Given the description of an element on the screen output the (x, y) to click on. 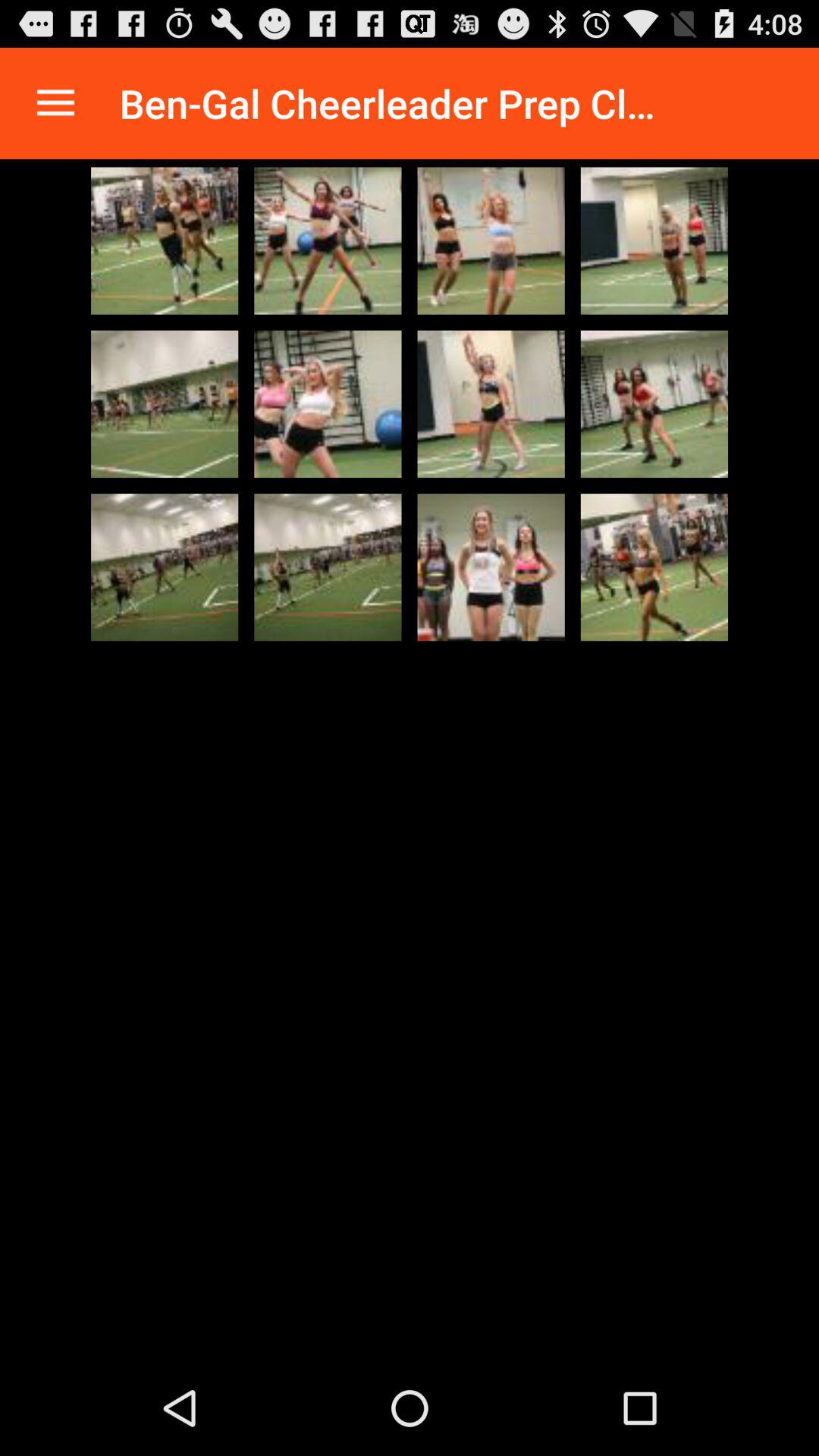
view picture (490, 240)
